Given the description of an element on the screen output the (x, y) to click on. 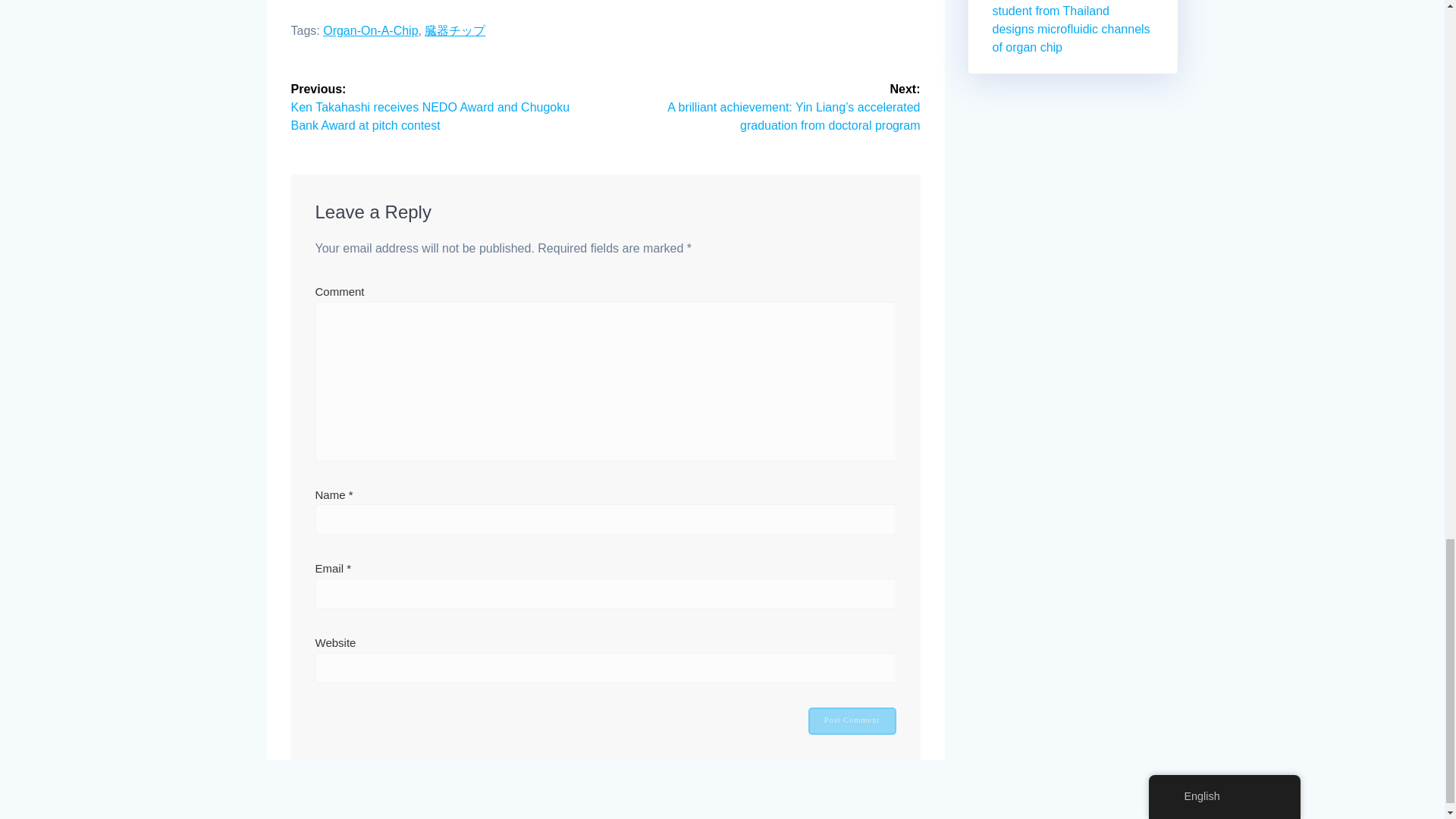
Post Comment (852, 720)
